Given the description of an element on the screen output the (x, y) to click on. 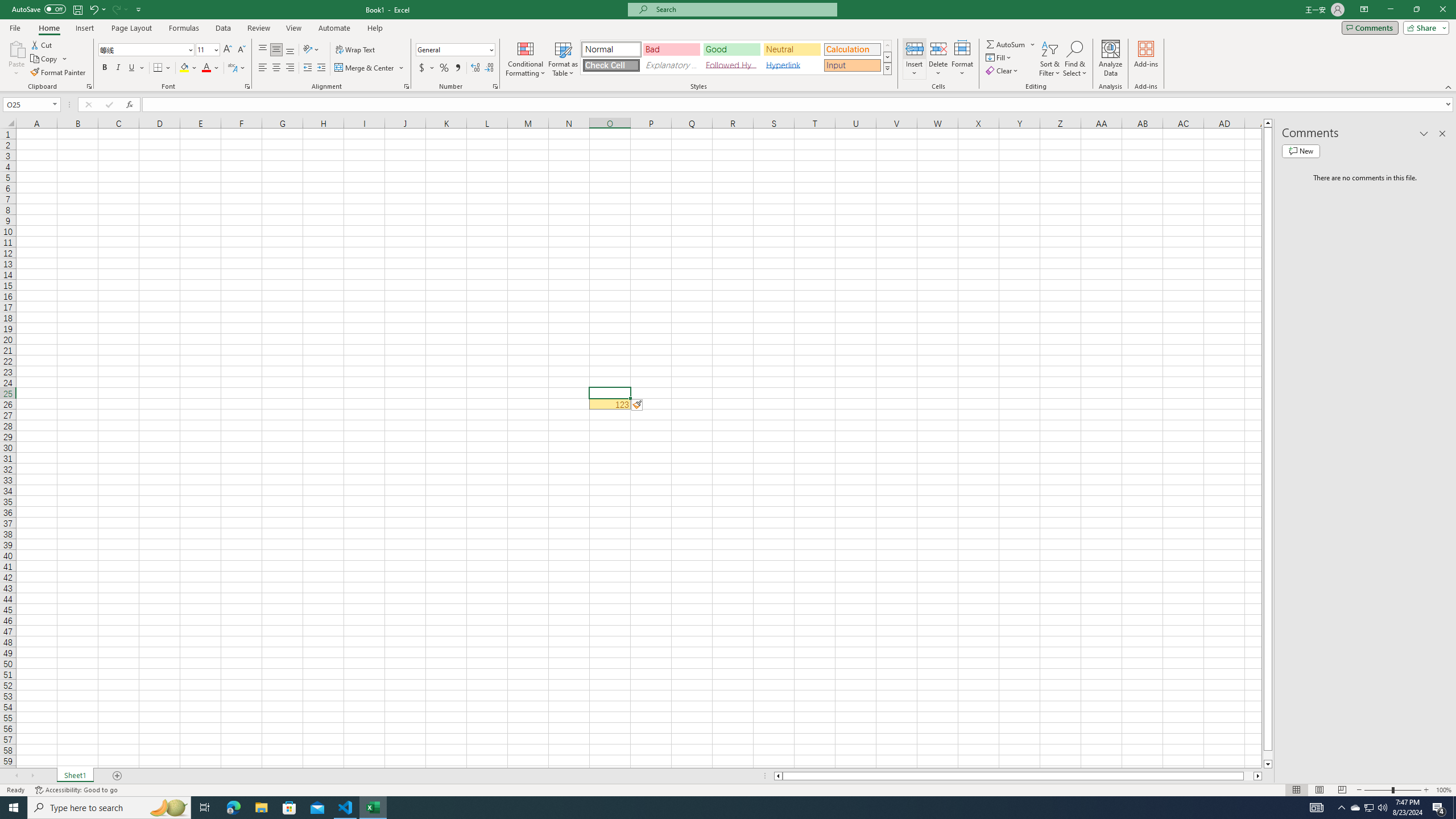
Insert Cells (914, 48)
Zoom In (1426, 790)
Bottom Align (290, 49)
Copy (45, 58)
File Tab (15, 27)
Row Down (887, 56)
Data (223, 28)
Column left (778, 775)
Class: NetUIImage (887, 68)
Middle Align (276, 49)
Bold (104, 67)
Followed Hyperlink (731, 65)
Sum (1006, 44)
